Given the description of an element on the screen output the (x, y) to click on. 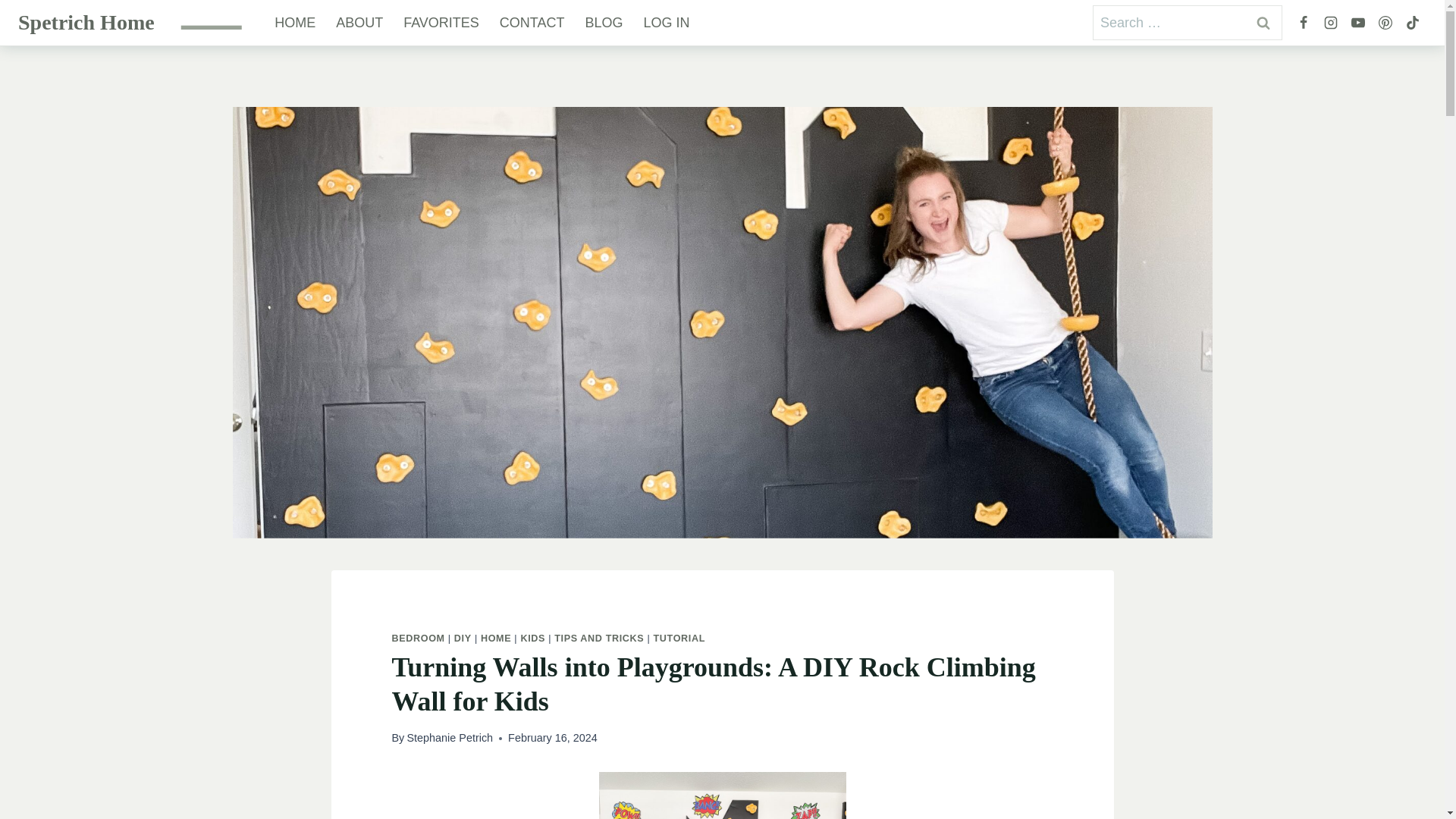
KIDS (531, 638)
TUTORIAL (678, 638)
LOG IN (666, 22)
Search (1263, 21)
HOME (495, 638)
FAVORITES (441, 22)
Spetrich Home (85, 22)
ABOUT (359, 22)
Search (1263, 21)
CONTACT (532, 22)
